Given the description of an element on the screen output the (x, y) to click on. 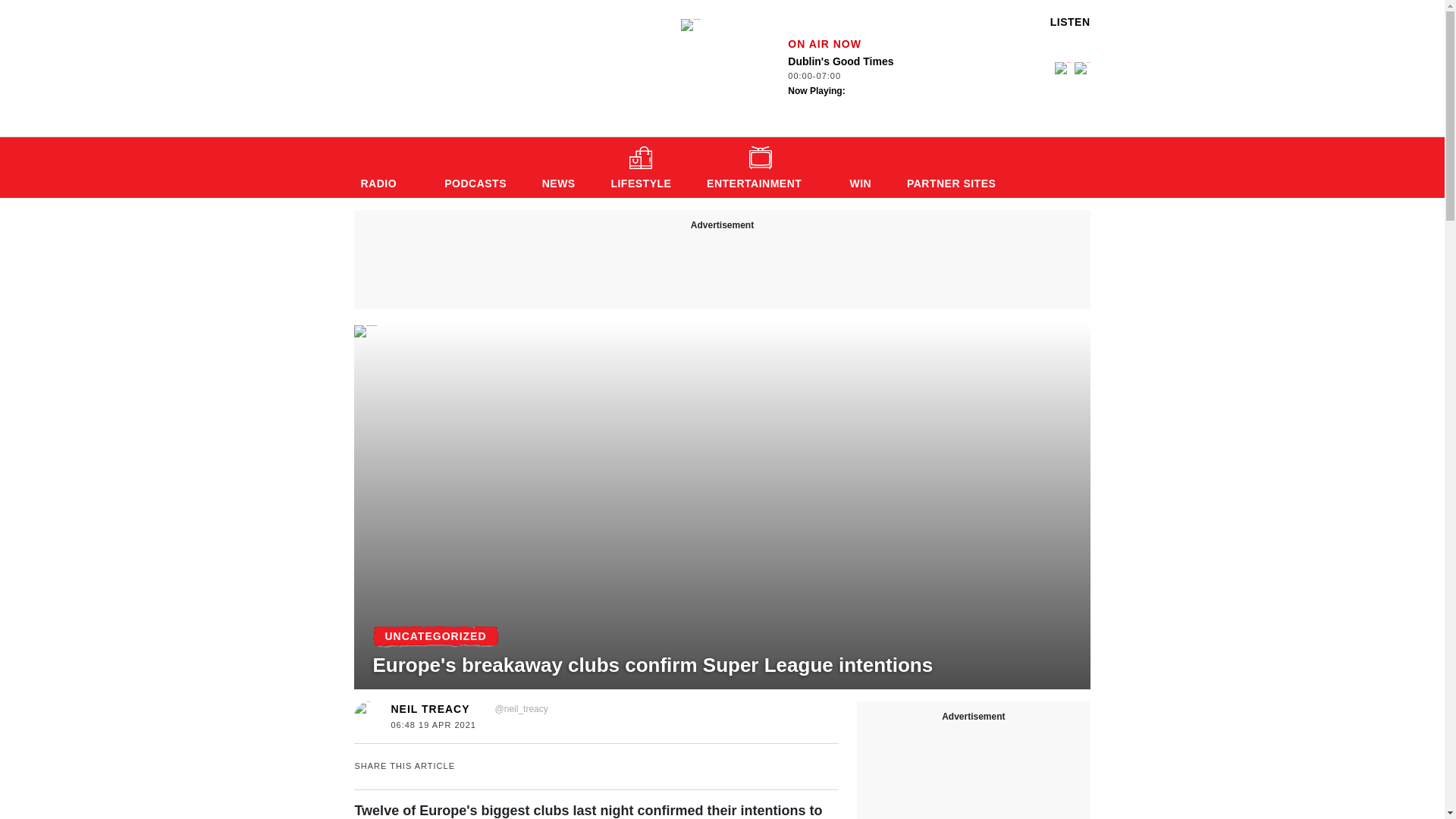
NEIL TREACY (429, 708)
Win (860, 167)
PODCASTS (475, 167)
LIFESTYLE (640, 167)
Lifestyle (640, 167)
WIN (860, 167)
Podcasts (860, 76)
NEWS (475, 167)
PARTNER SITES (557, 167)
News (957, 167)
Dublin's Good Times (557, 167)
UNCATEGORIZED (690, 24)
RADIO (434, 635)
ENTERTAINMENT (383, 167)
